Given the description of an element on the screen output the (x, y) to click on. 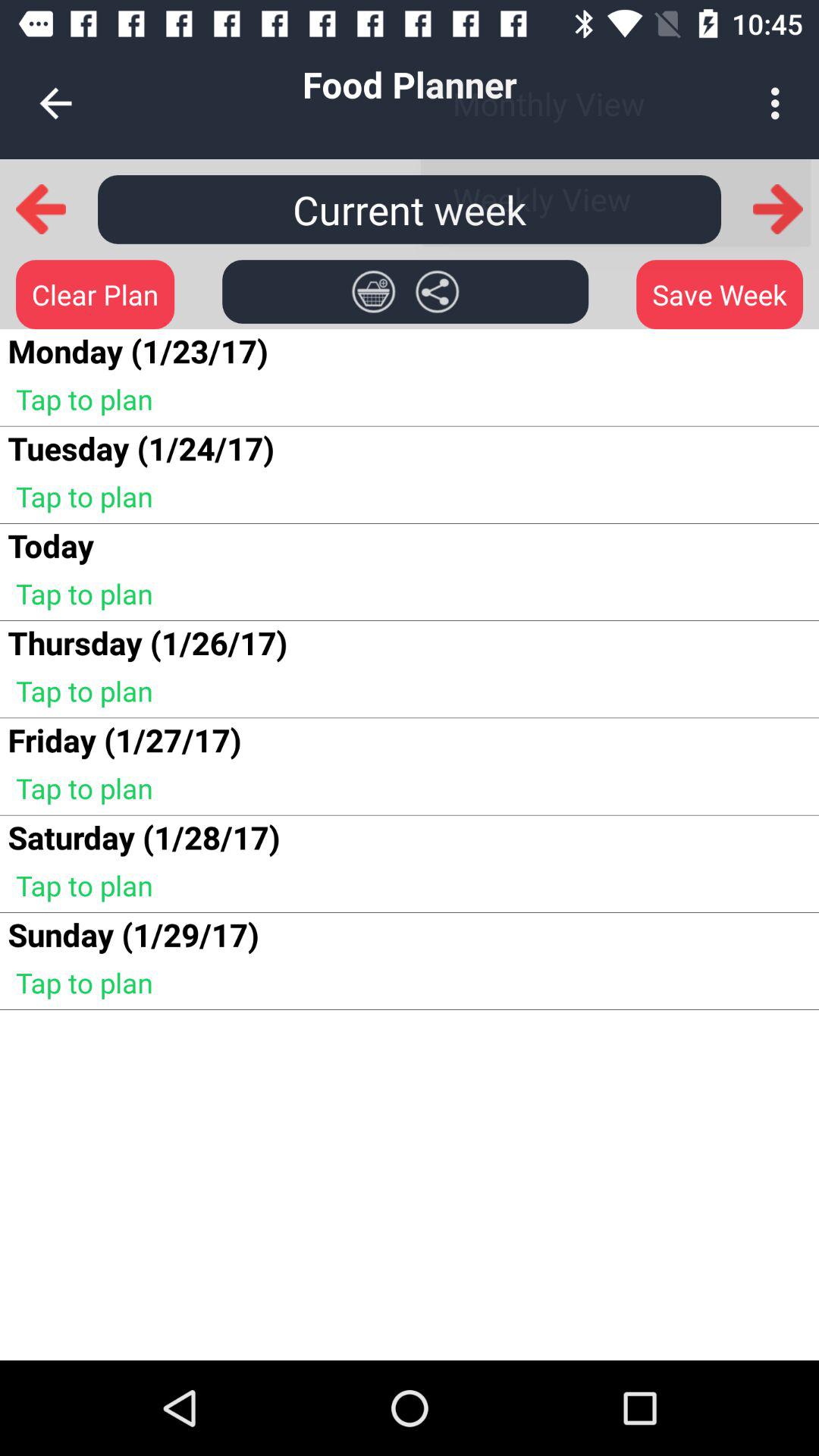
go to the next page (778, 209)
